Given the description of an element on the screen output the (x, y) to click on. 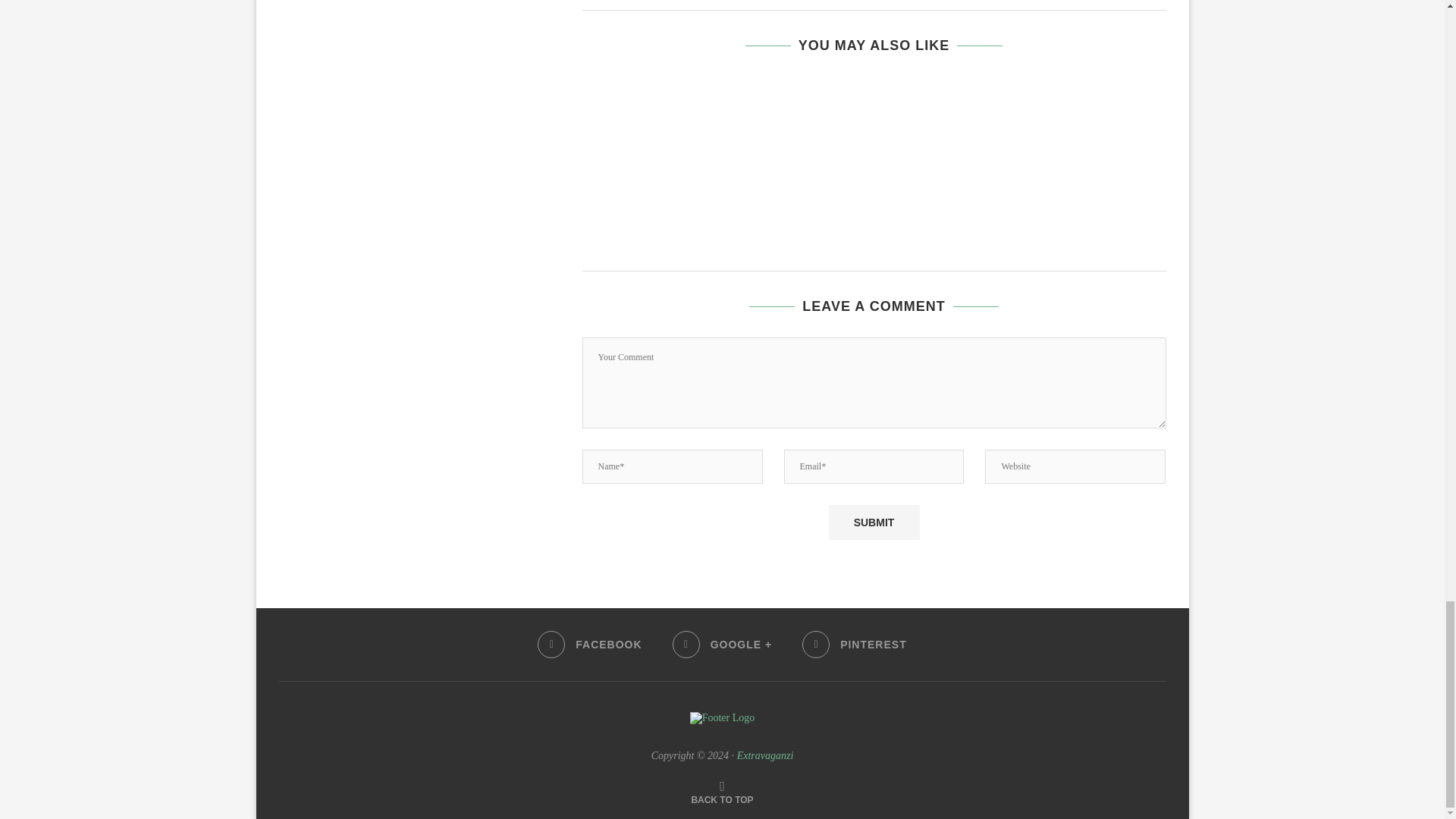
Submit (873, 522)
